Given the description of an element on the screen output the (x, y) to click on. 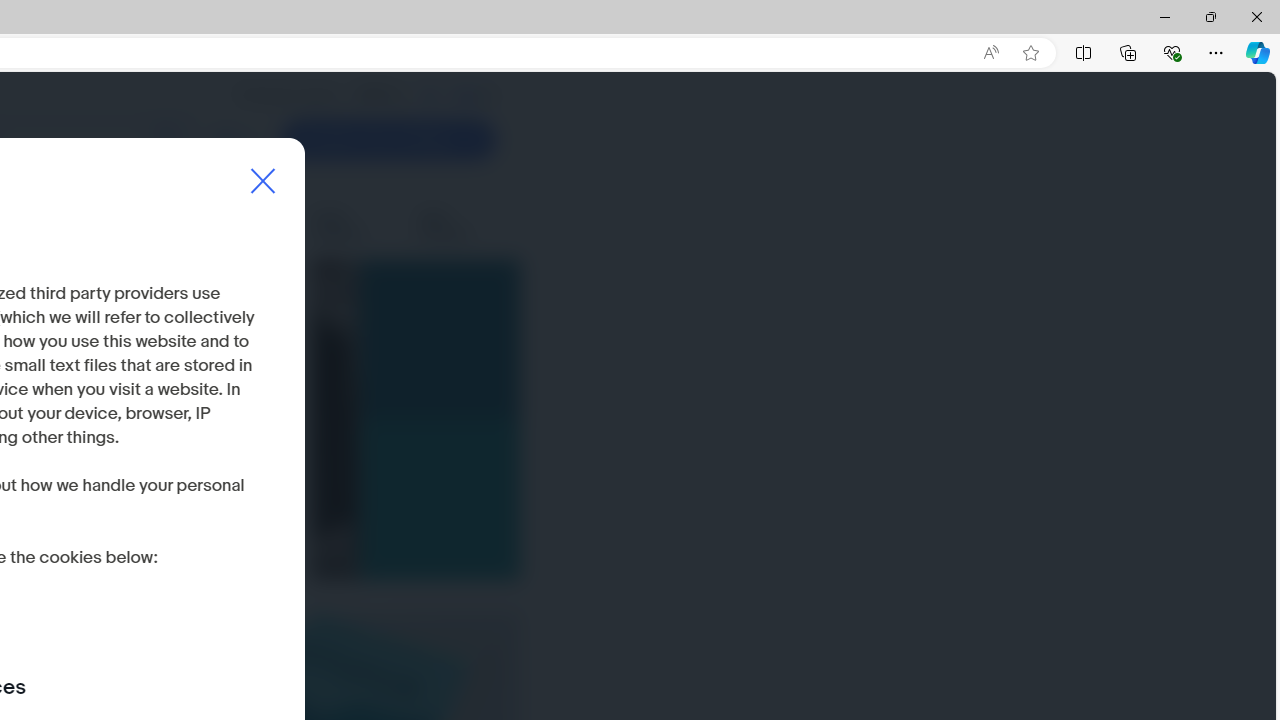
IN (429, 95)
Class: search-input__icon (168, 139)
Class: btn__arrow (469, 139)
Class: search-input__btn (168, 139)
SEA (465, 95)
Regulations & policies (139, 225)
Seller updates (353, 225)
